Given the description of an element on the screen output the (x, y) to click on. 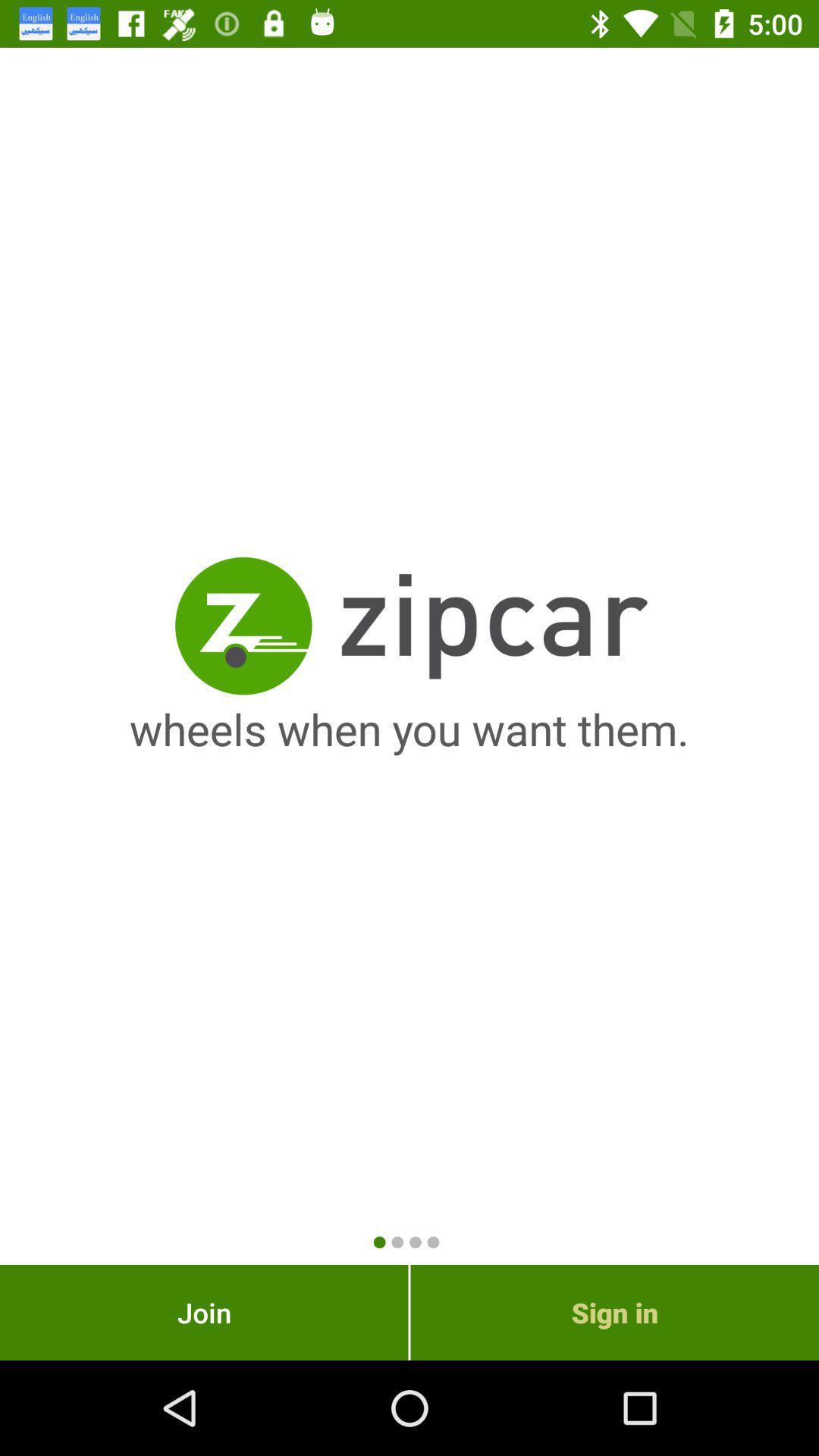
click the sign in (614, 1312)
